Given the description of an element on the screen output the (x, y) to click on. 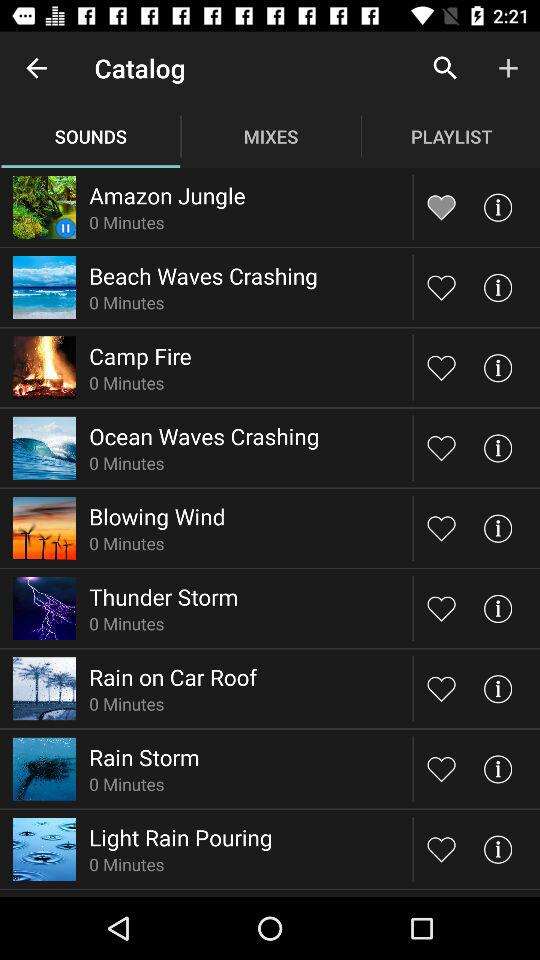
toggle favorite option (441, 367)
